Given the description of an element on the screen output the (x, y) to click on. 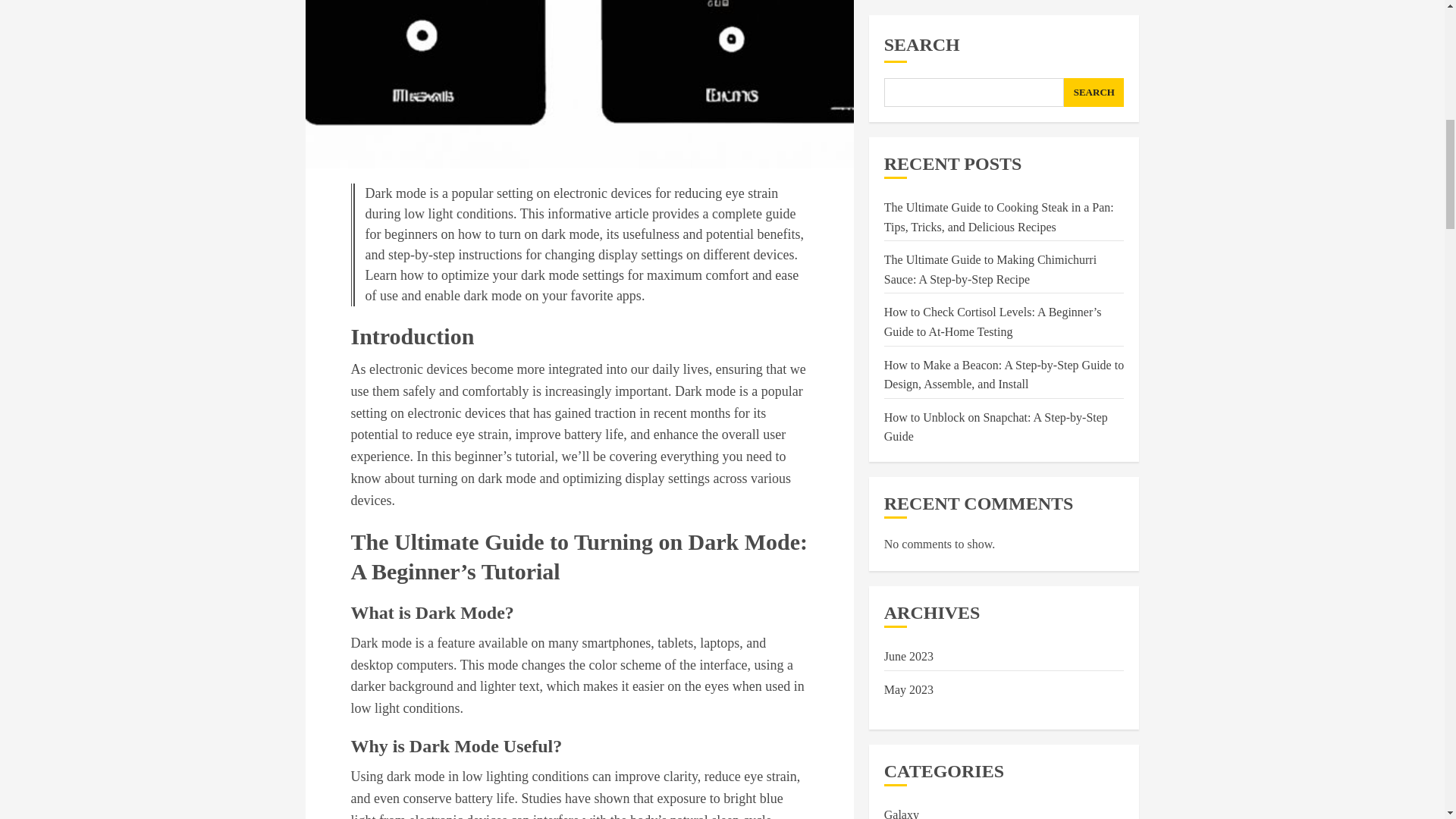
May 2023 (908, 138)
June 2023 (908, 105)
Galaxy (900, 264)
